Given the description of an element on the screen output the (x, y) to click on. 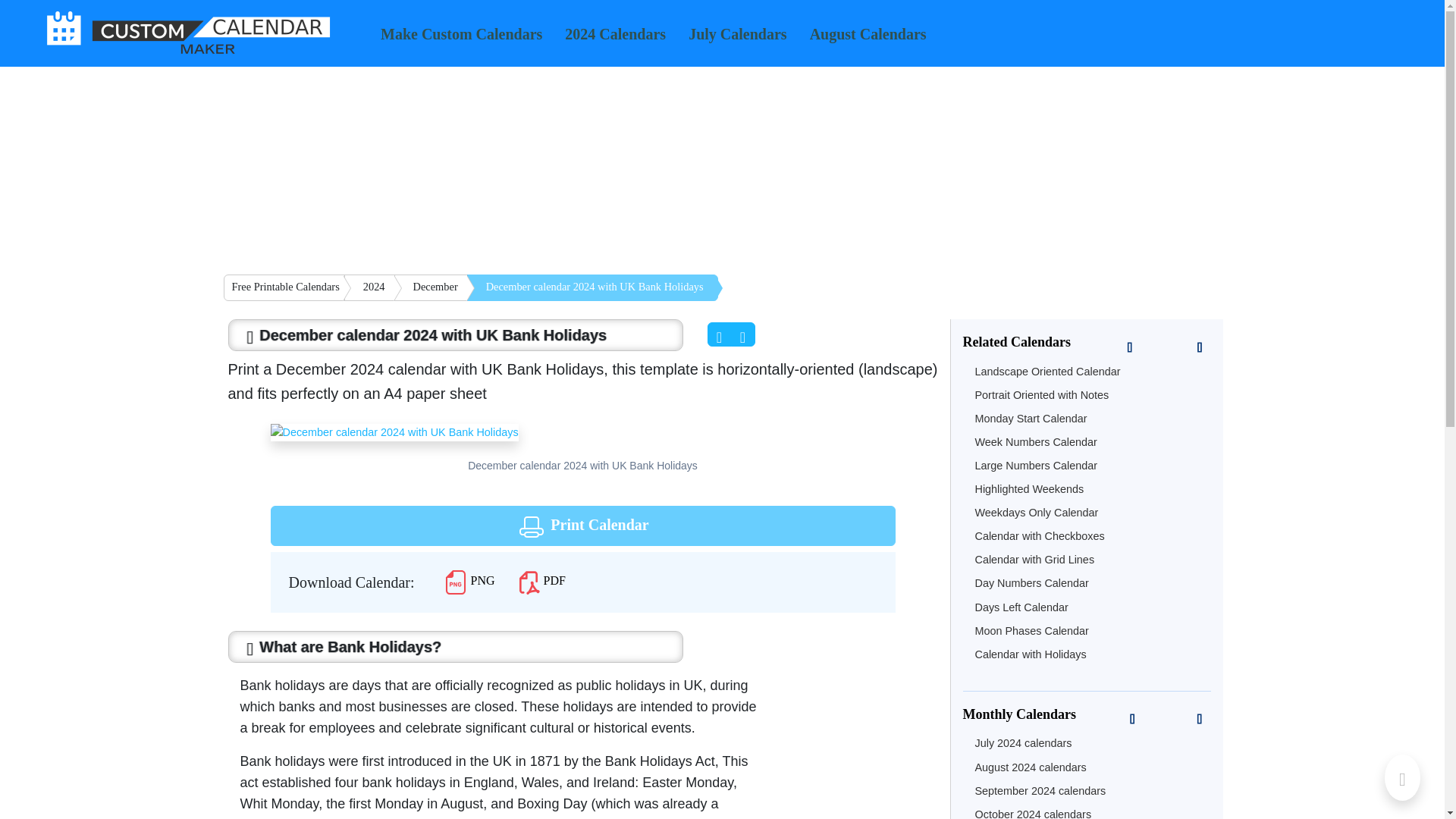
July Calendars (737, 36)
December calendar 2024 with UK Bank Holidays (393, 432)
Free Printable Calendars (282, 287)
print Created with Sketch Beta. Print Calendar (582, 525)
Calendar with Grid Lines (1034, 559)
Monthly Calendars (1086, 717)
Make Custom Calendars (461, 36)
August Calendars (867, 36)
PDF (541, 580)
Calendar with Checkboxes (1040, 535)
Highlighted Weekends (1029, 489)
print Created with Sketch Beta. (531, 526)
PDF (541, 582)
Day Numbers Calendar (1032, 582)
Days Left Calendar (1021, 607)
